Given the description of an element on the screen output the (x, y) to click on. 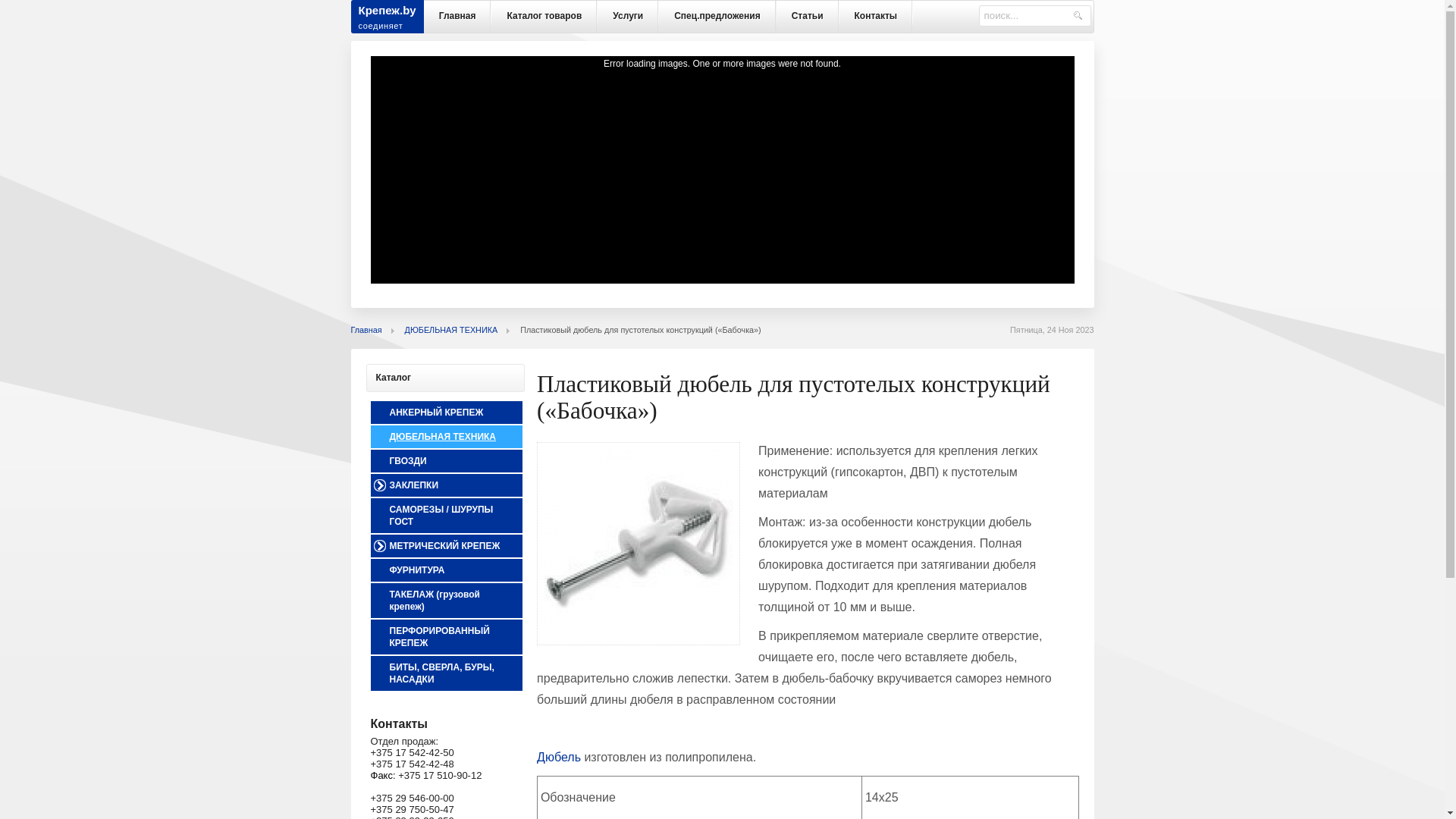
Click to preview image Element type: hover (641, 642)
